Given the description of an element on the screen output the (x, y) to click on. 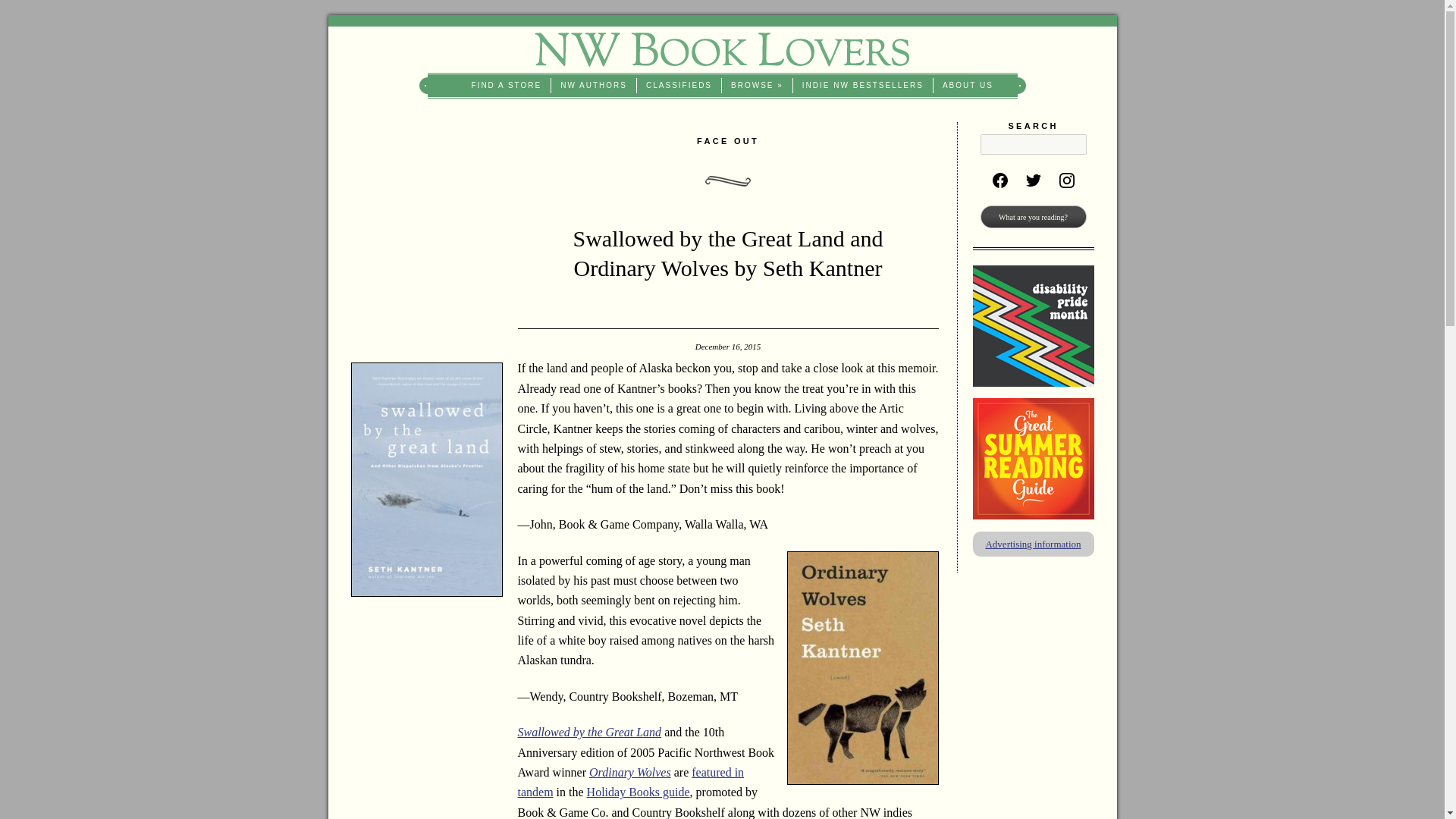
CLASSIFIEDS (678, 85)
NW AUTHORS (593, 85)
NW Book Lovers (721, 49)
Swallowed by the Great Land (588, 731)
featured in tandem (630, 781)
INDIE NW BESTSELLERS (863, 85)
Ordinary Wolves (630, 771)
ABOUT US (968, 85)
FIND A STORE (507, 85)
Holiday Books guide (638, 791)
